Given the description of an element on the screen output the (x, y) to click on. 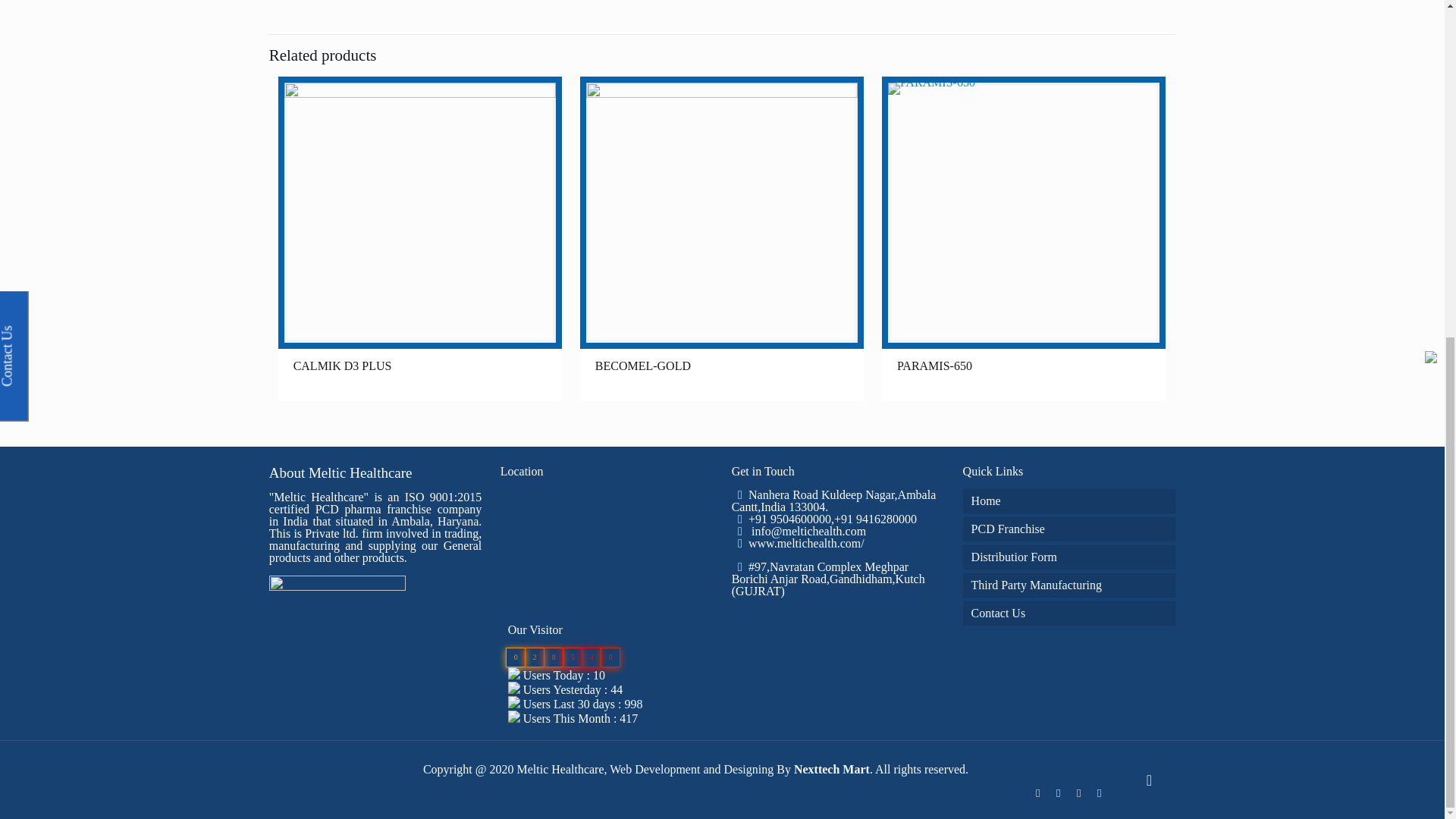
Pinterest (1078, 793)
Instagram (1098, 793)
LinkedIn (1057, 793)
Facebook (1037, 793)
